Given the description of an element on the screen output the (x, y) to click on. 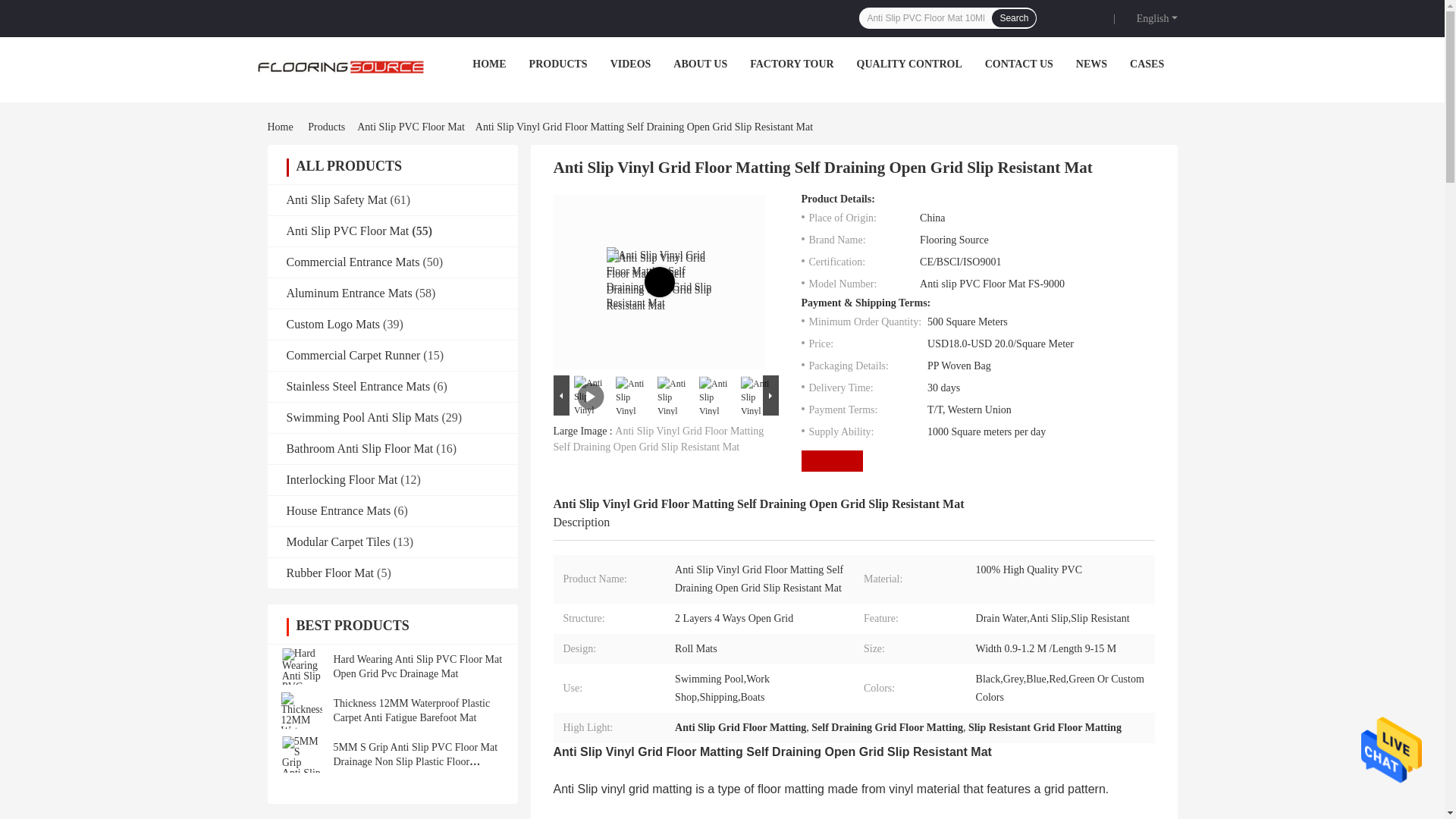
Request A Quote (1085, 17)
Anti Slip PVC Floor Mat (347, 230)
NEWS (1090, 63)
Anti Slip Safety Mat (336, 199)
VIDEOS (630, 63)
Home (282, 127)
HOME (488, 63)
QUALITY CONTROL (909, 63)
FACTORY TOUR (790, 63)
Products (325, 127)
